Given the description of an element on the screen output the (x, y) to click on. 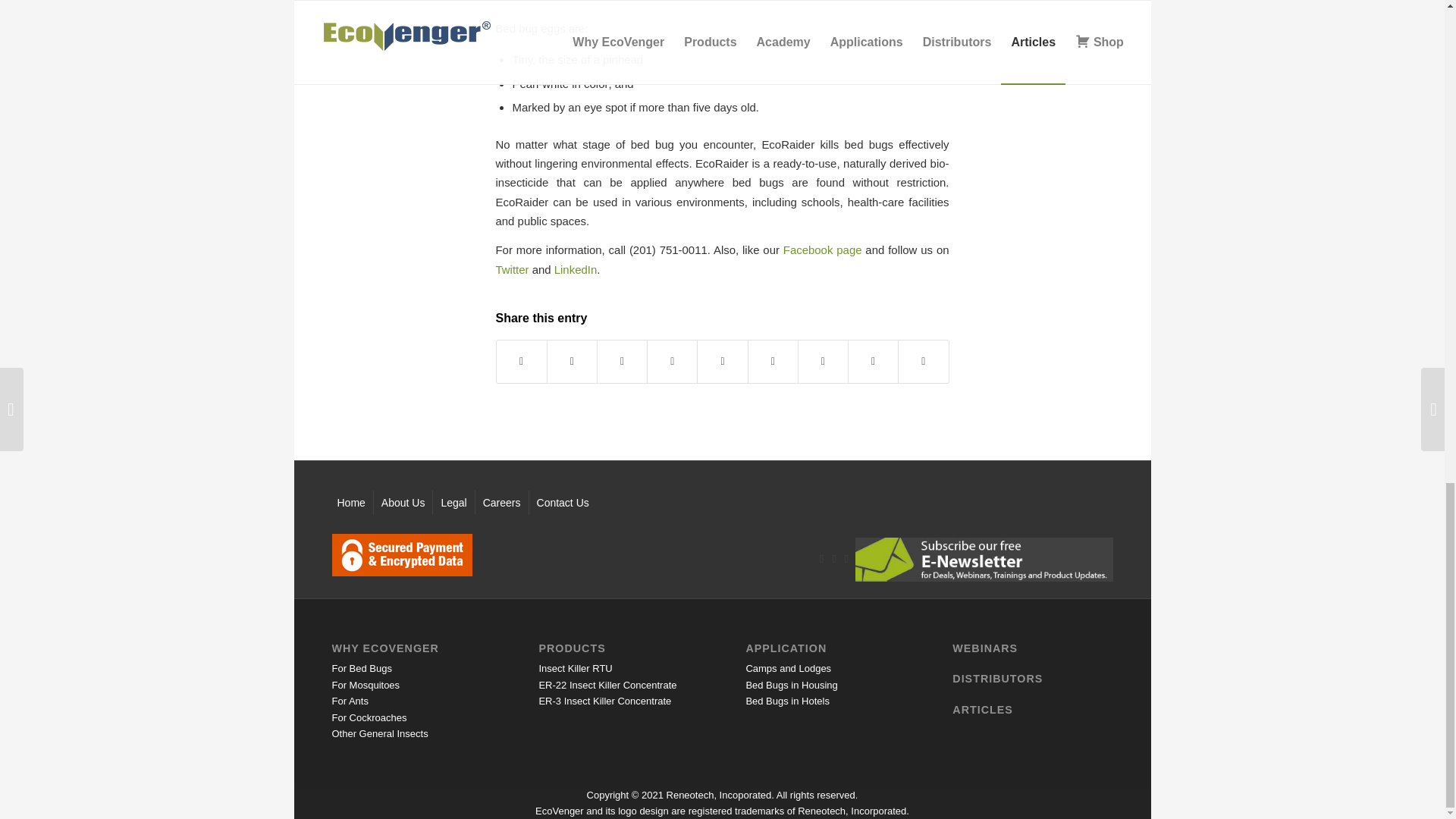
LinkedIn (575, 269)
About Us (403, 502)
Home (350, 502)
Twitter (512, 269)
